Given the description of an element on the screen output the (x, y) to click on. 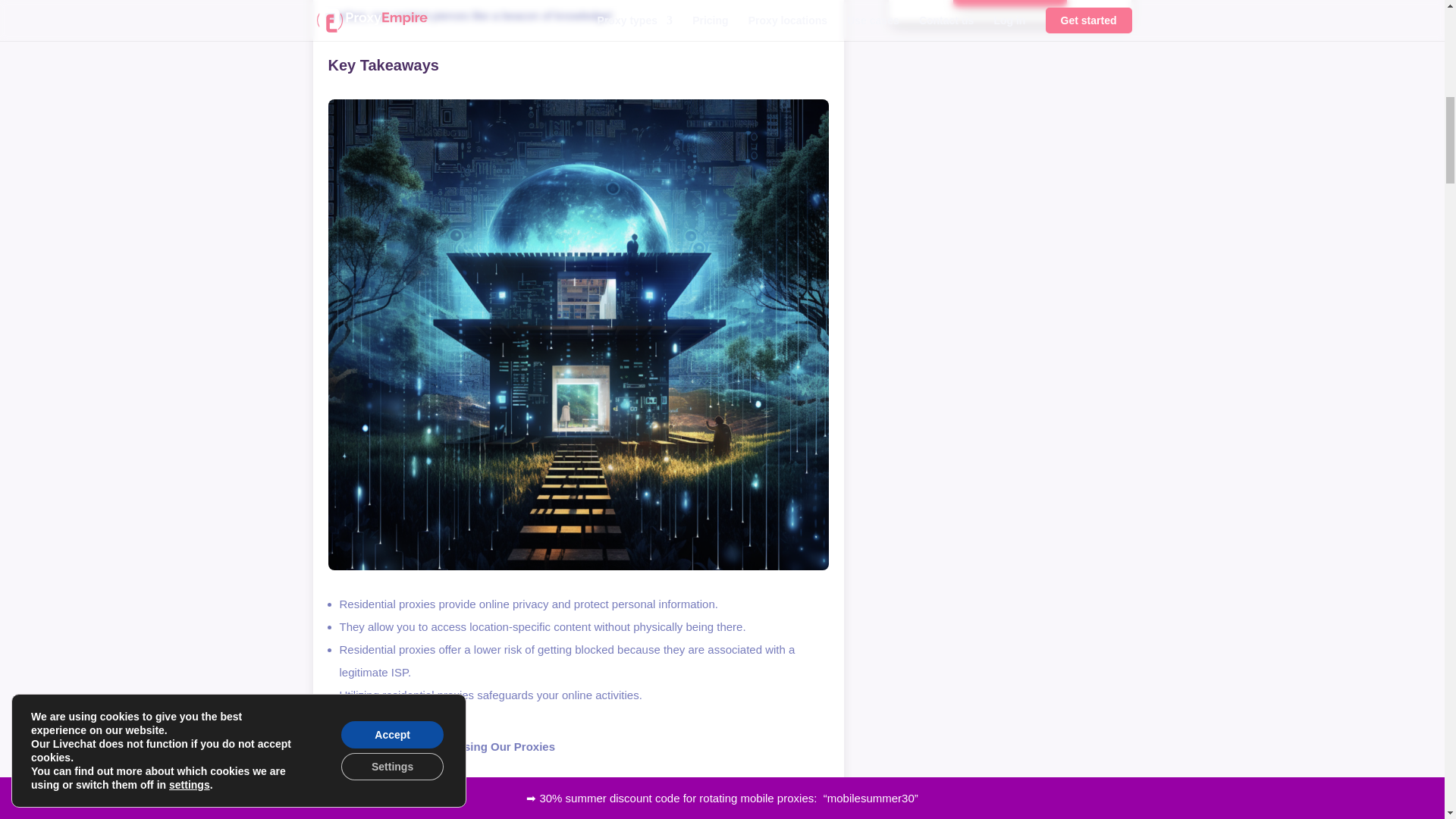
Web Scraping (372, 780)
Price Monitoring (378, 813)
